Given the description of an element on the screen output the (x, y) to click on. 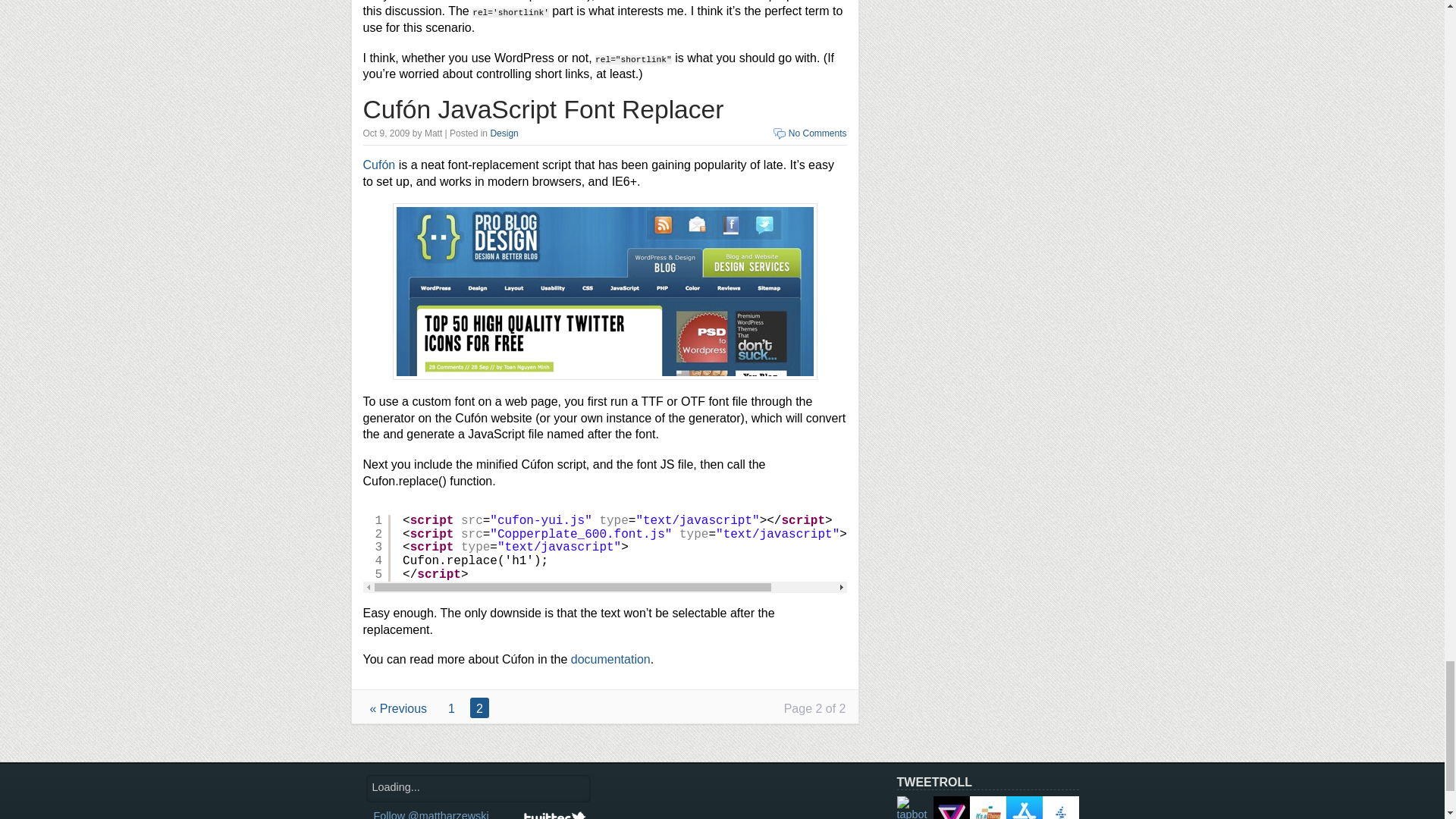
Cufon on ProBlogDesign.com (604, 291)
Page 1 (451, 707)
